Given the description of an element on the screen output the (x, y) to click on. 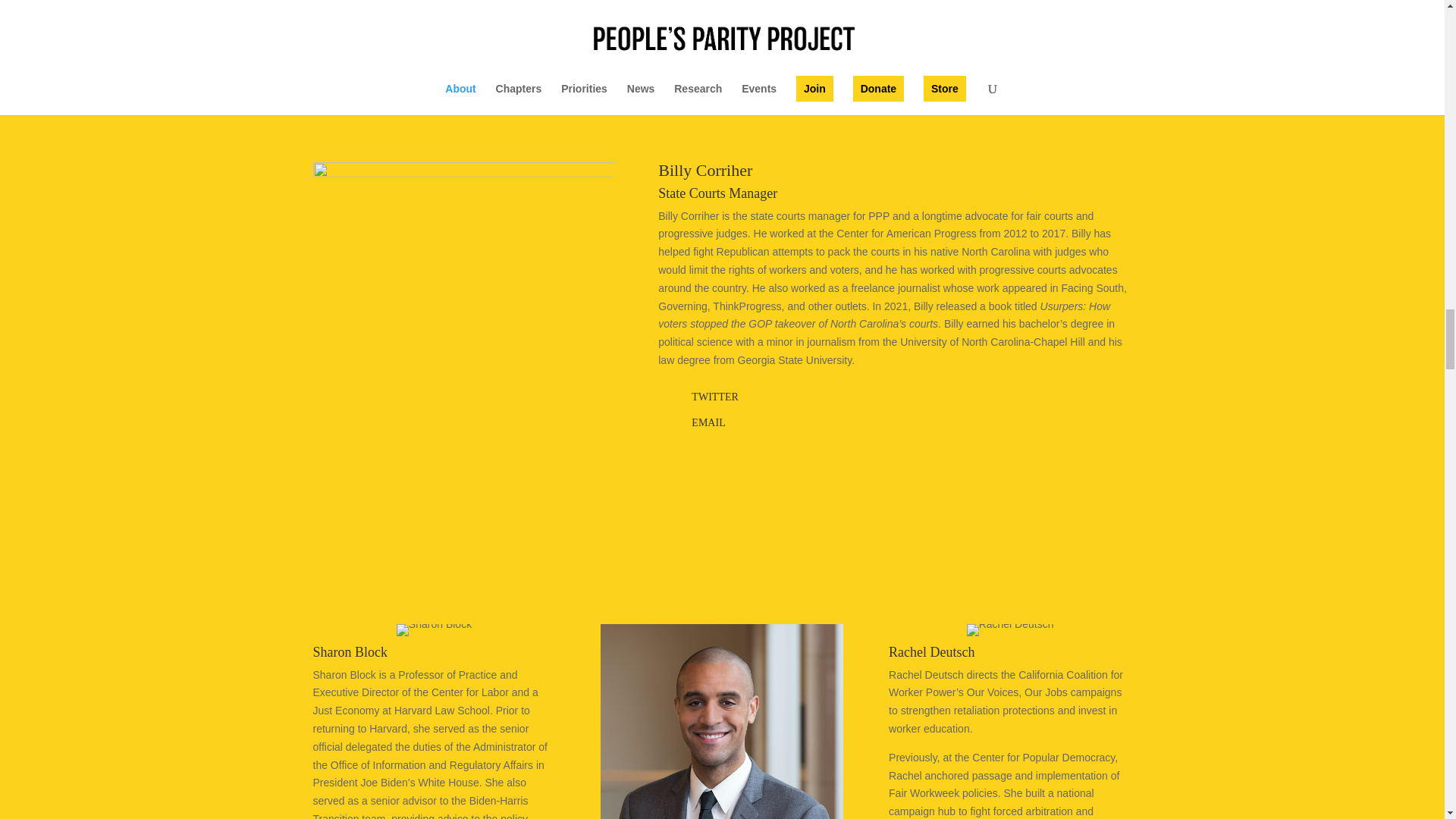
billy corriher (462, 312)
